Given the description of an element on the screen output the (x, y) to click on. 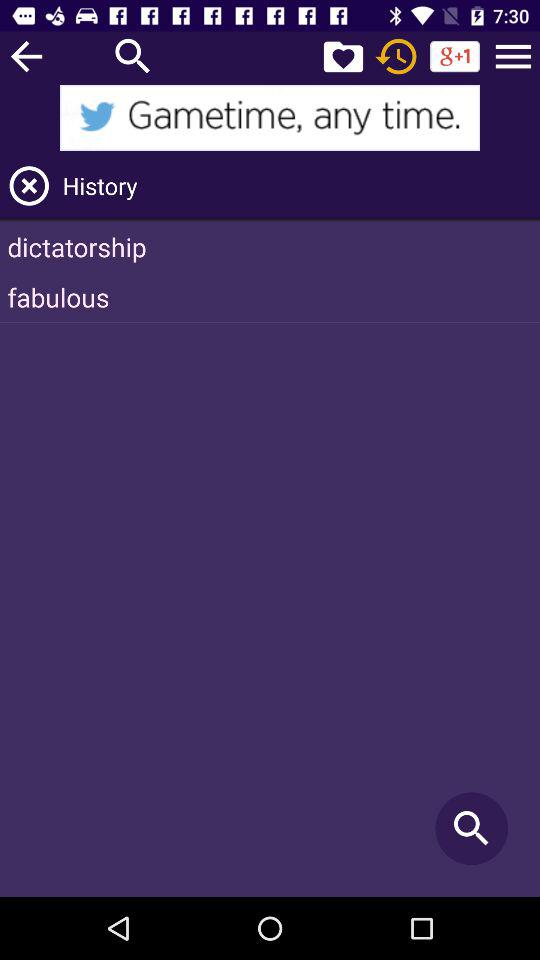
more option (513, 56)
